Given the description of an element on the screen output the (x, y) to click on. 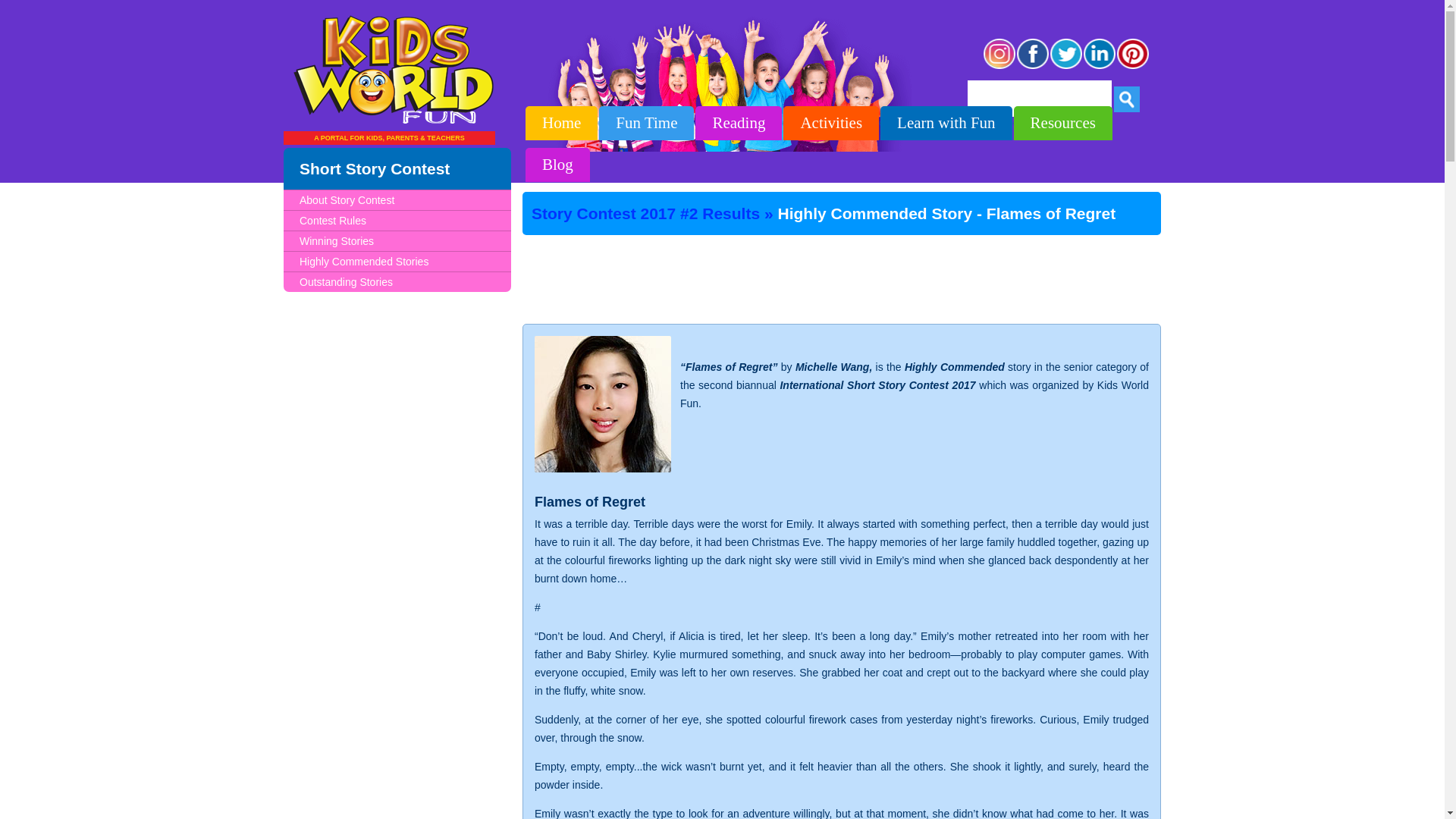
Fun Time (646, 123)
Learn with Fun (945, 123)
Follow Us On Pinterest (1133, 66)
Activities (831, 123)
Home (560, 123)
Follow Us On Twitter (1066, 66)
Reading (738, 123)
Follow Us On Facebook (1032, 66)
Follow Us On Instagram (999, 66)
Search (1126, 99)
Follow Us On LinkedIn (1099, 66)
Fun Time (646, 123)
Search (1126, 99)
Home (560, 123)
